Given the description of an element on the screen output the (x, y) to click on. 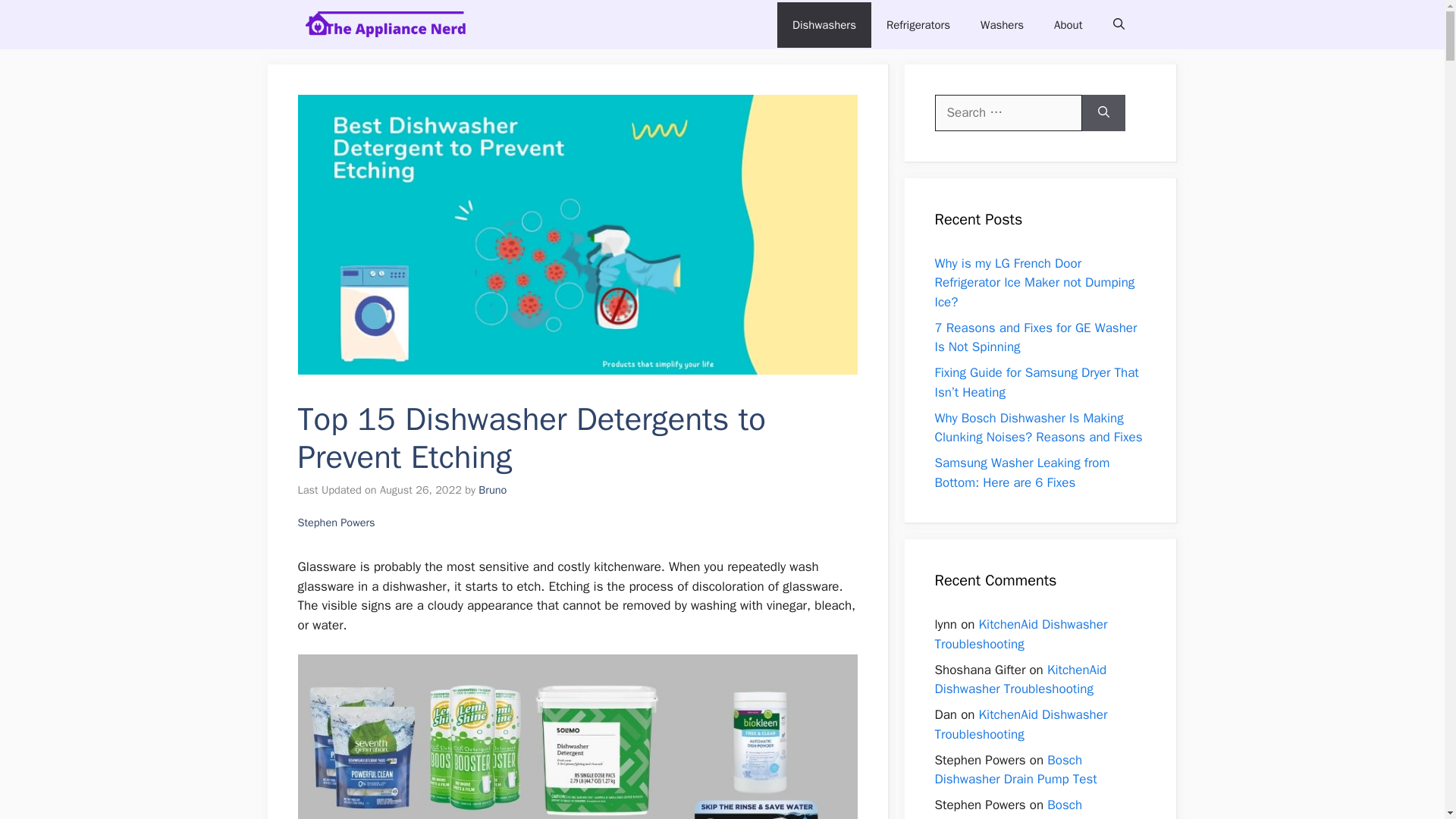
Stephen Powers (335, 522)
Washers (1002, 23)
Refrigerators (917, 23)
The Appliance Nerd (390, 24)
Stephen Powers (335, 522)
Bruno (492, 489)
Dishwashers (823, 23)
About (1068, 23)
